Given the description of an element on the screen output the (x, y) to click on. 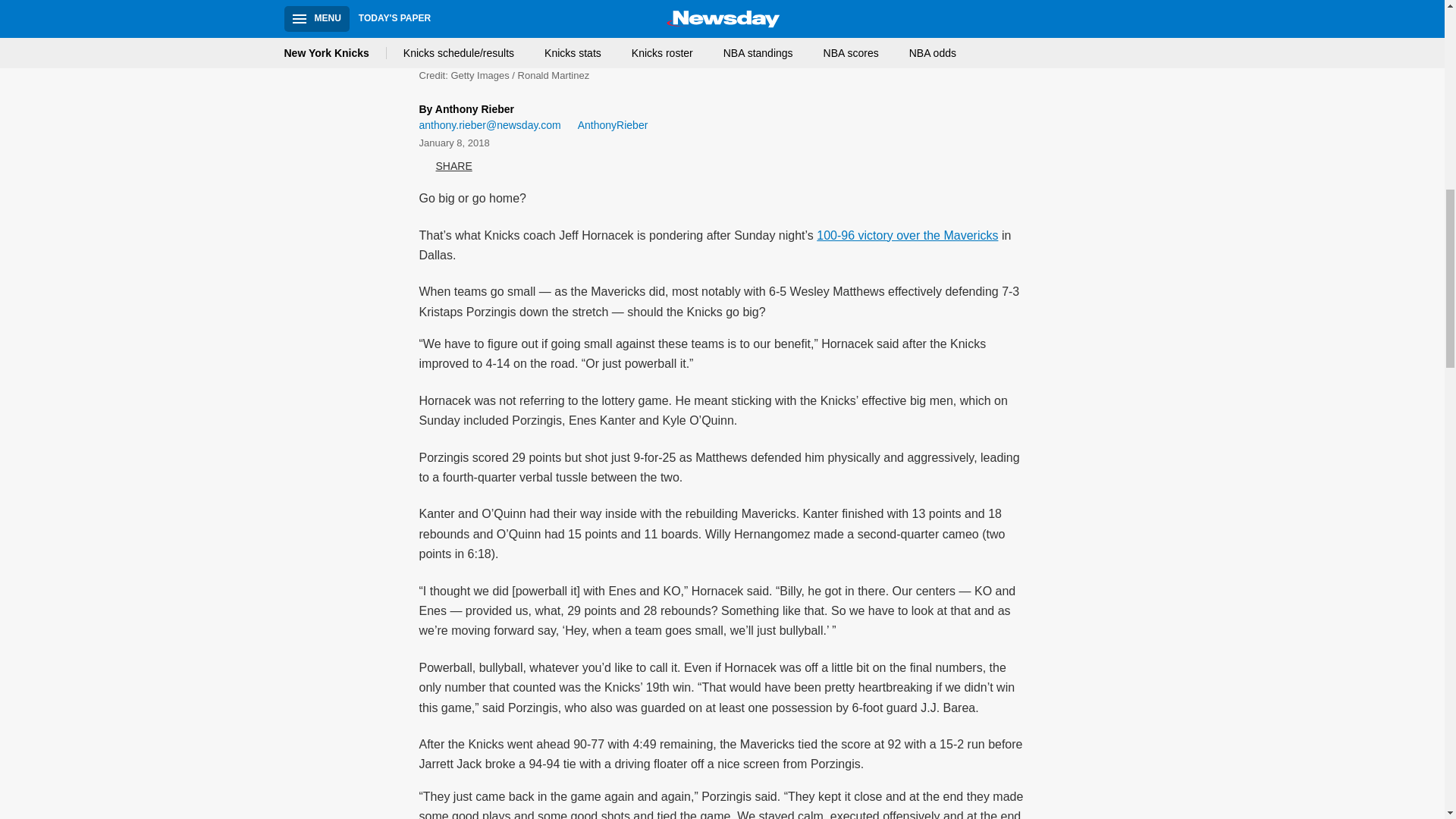
100-96 victory over the Mavericks (906, 235)
SHARE (445, 165)
AnthonyRieber (606, 125)
